Given the description of an element on the screen output the (x, y) to click on. 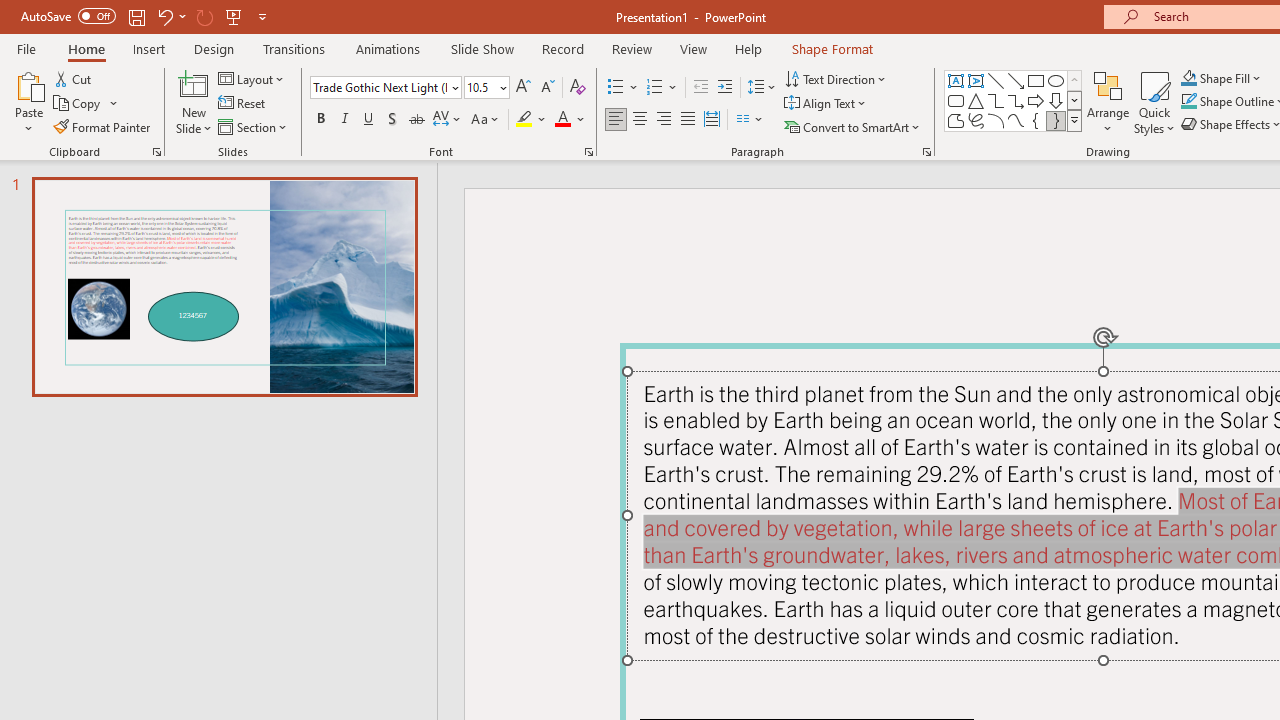
Increase Font Size (522, 87)
Align Right (663, 119)
Paragraph... (926, 151)
Quick Styles (1154, 102)
Clear Formatting (577, 87)
Convert to SmartArt (853, 126)
Left Brace (1035, 120)
Shapes (1074, 120)
Format Painter (103, 126)
